Given the description of an element on the screen output the (x, y) to click on. 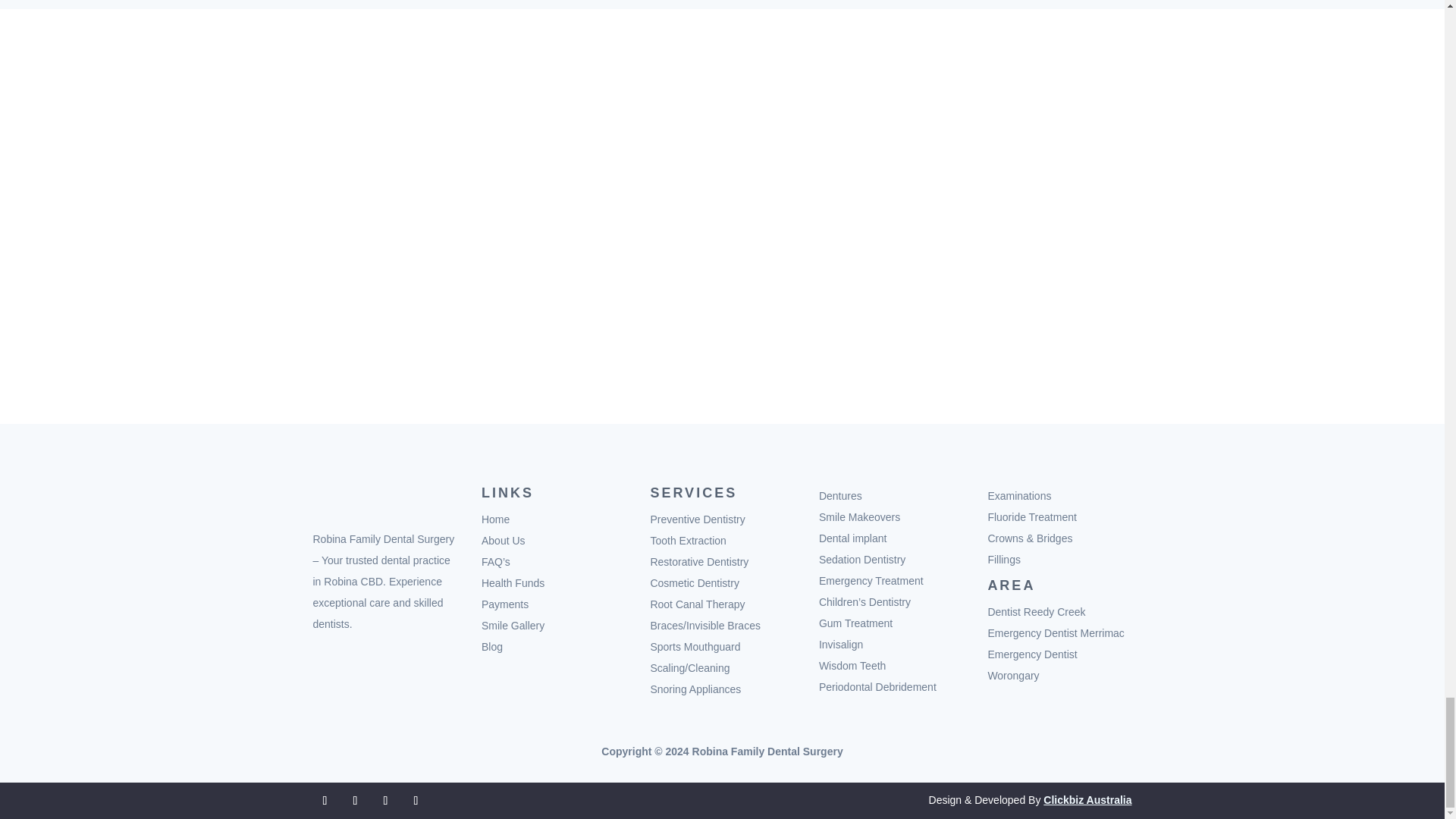
Follow on X (354, 800)
Follow on Youtube (384, 800)
Follow on Vimeo (415, 800)
Robina-Family-Dental-logo (385, 500)
Follow on Facebook (324, 800)
